Given the description of an element on the screen output the (x, y) to click on. 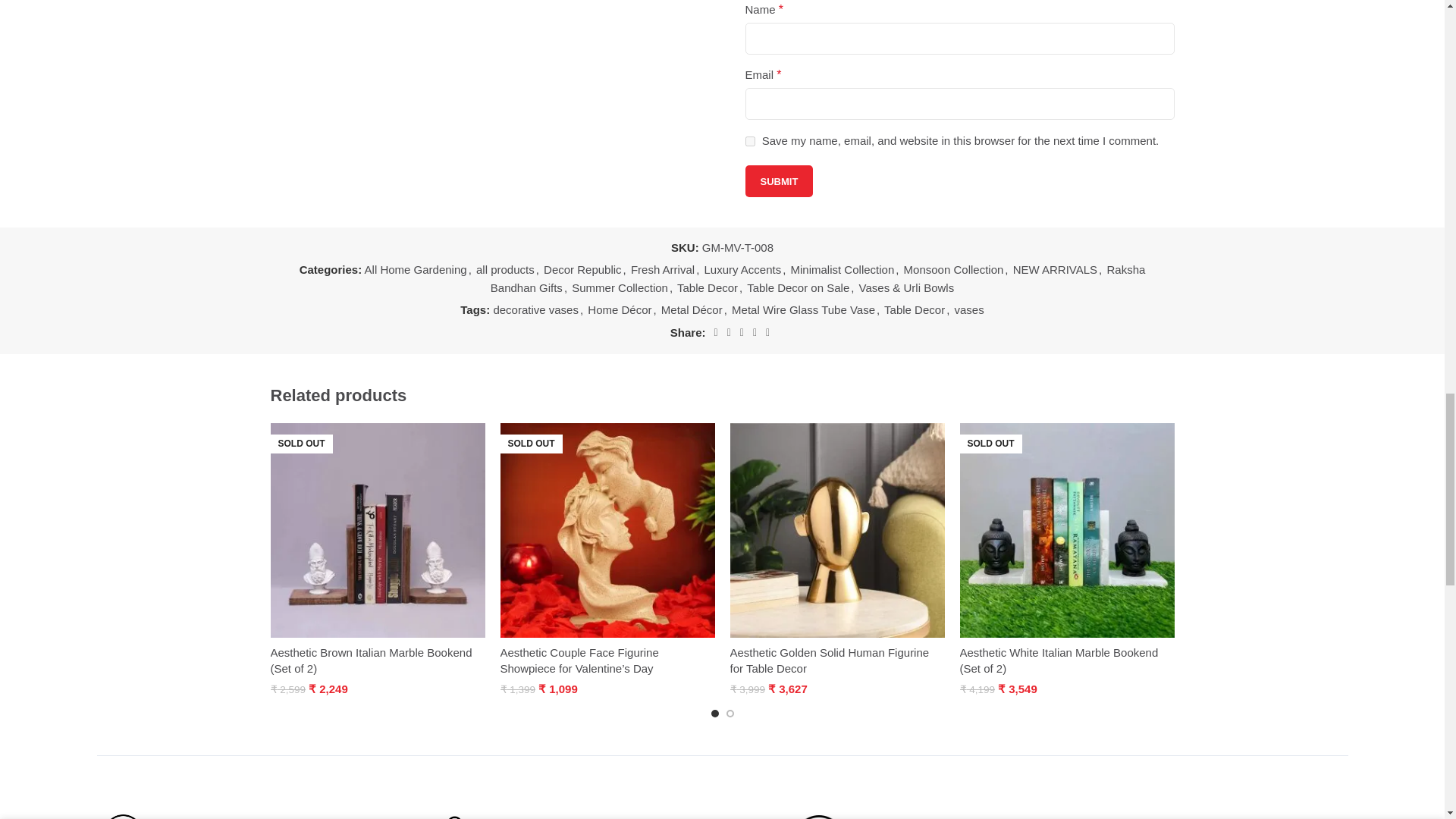
yes (749, 141)
Submit (778, 181)
